Given the description of an element on the screen output the (x, y) to click on. 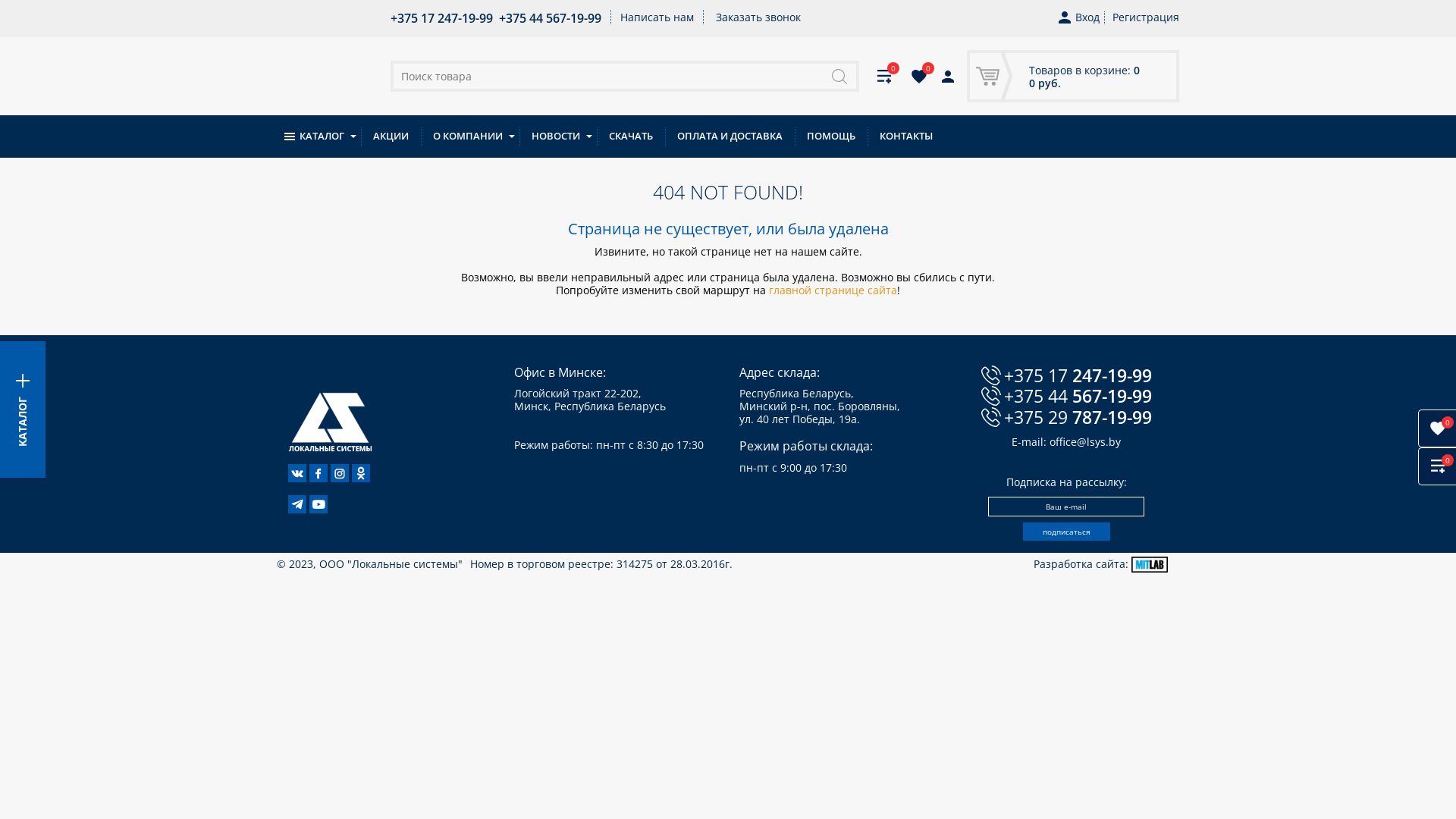
+375 29 787-19-99 Element type: text (1066, 417)
0 Element type: text (918, 75)
0 Element type: text (883, 75)
+375 44 567-19-99 Element type: text (1066, 395)
office@lsys.by Element type: text (1084, 441)
+375 44 567-19-99 Element type: text (549, 17)
+375 17 247-19-99 Element type: text (441, 17)
+375 17 247-19-99 Element type: text (1066, 375)
